Given the description of an element on the screen output the (x, y) to click on. 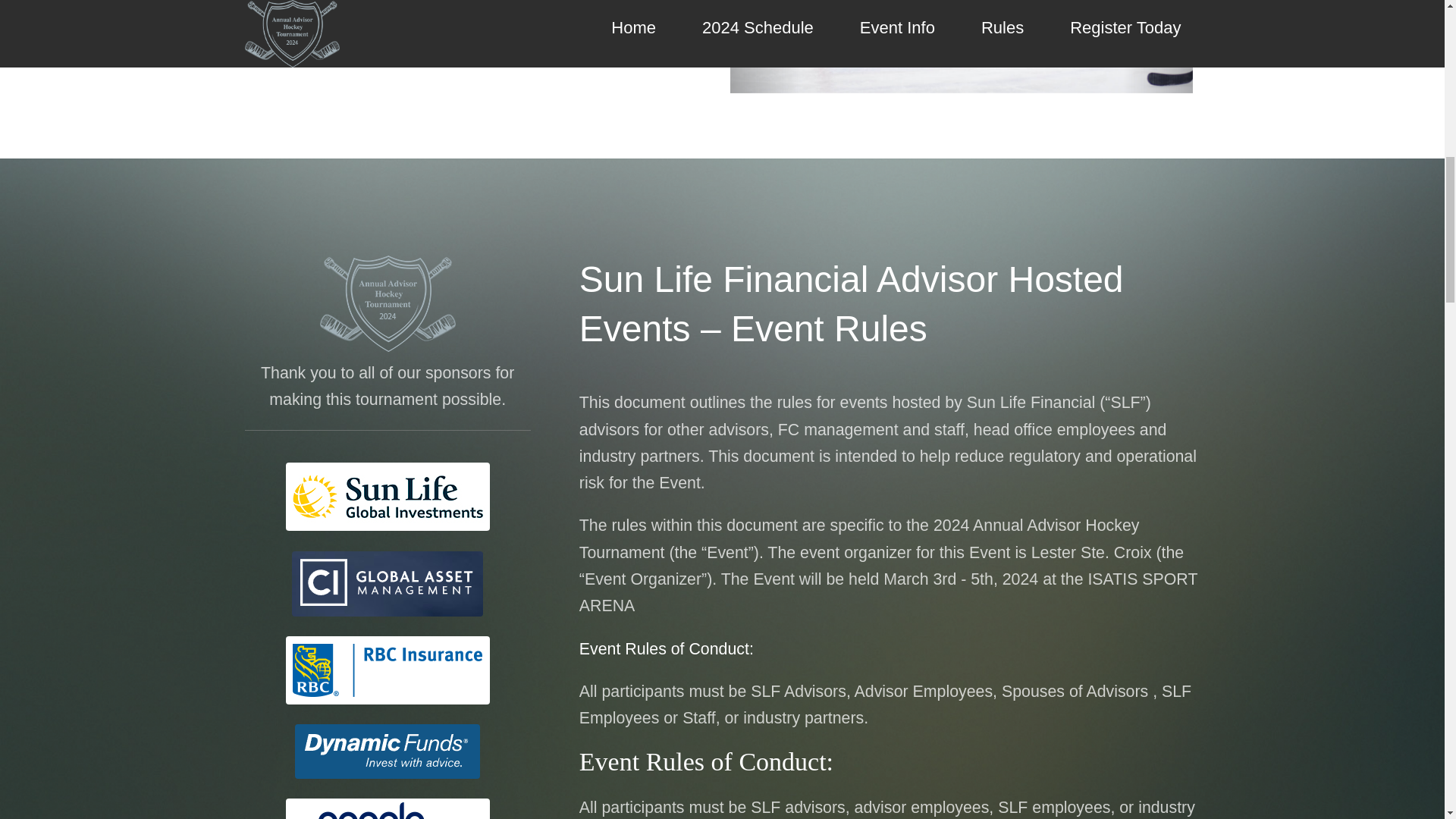
ISATIS SPORT ARENA (887, 592)
